Given the description of an element on the screen output the (x, y) to click on. 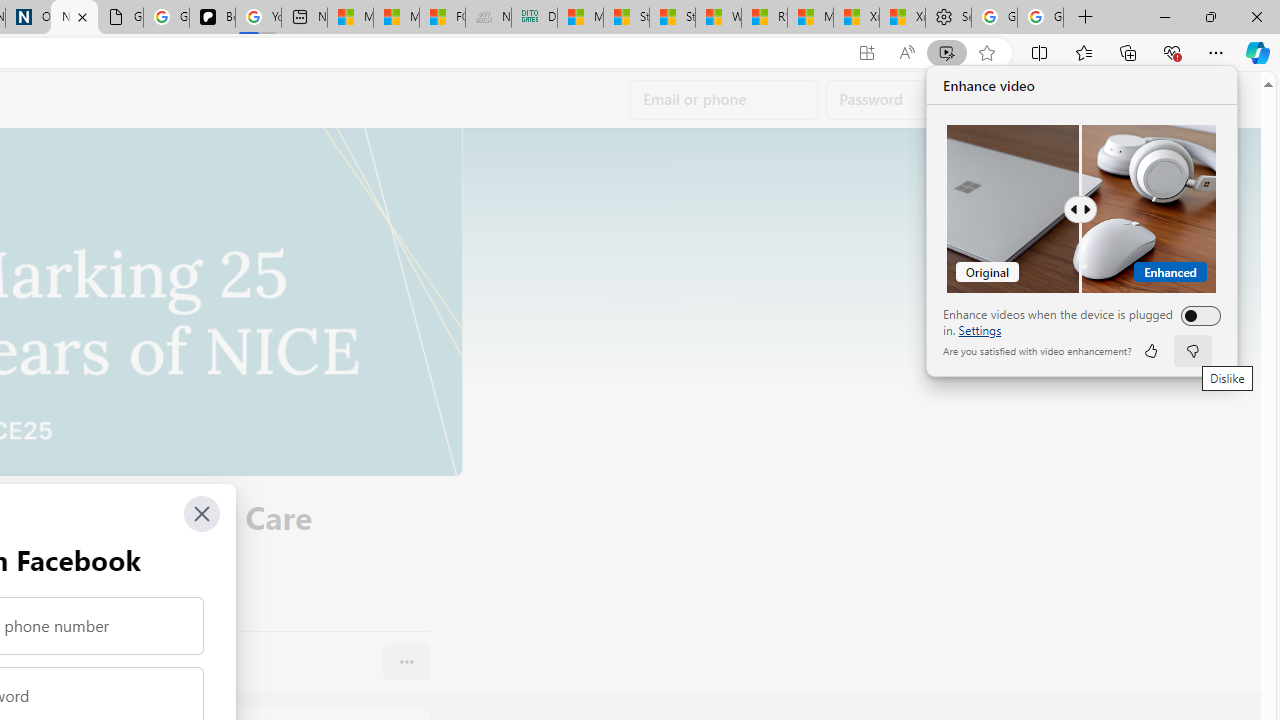
Enhance videos (1196, 316)
Google Analytics Opt-out Browser Add-on Download Page (120, 17)
like (1150, 350)
